Given the description of an element on the screen output the (x, y) to click on. 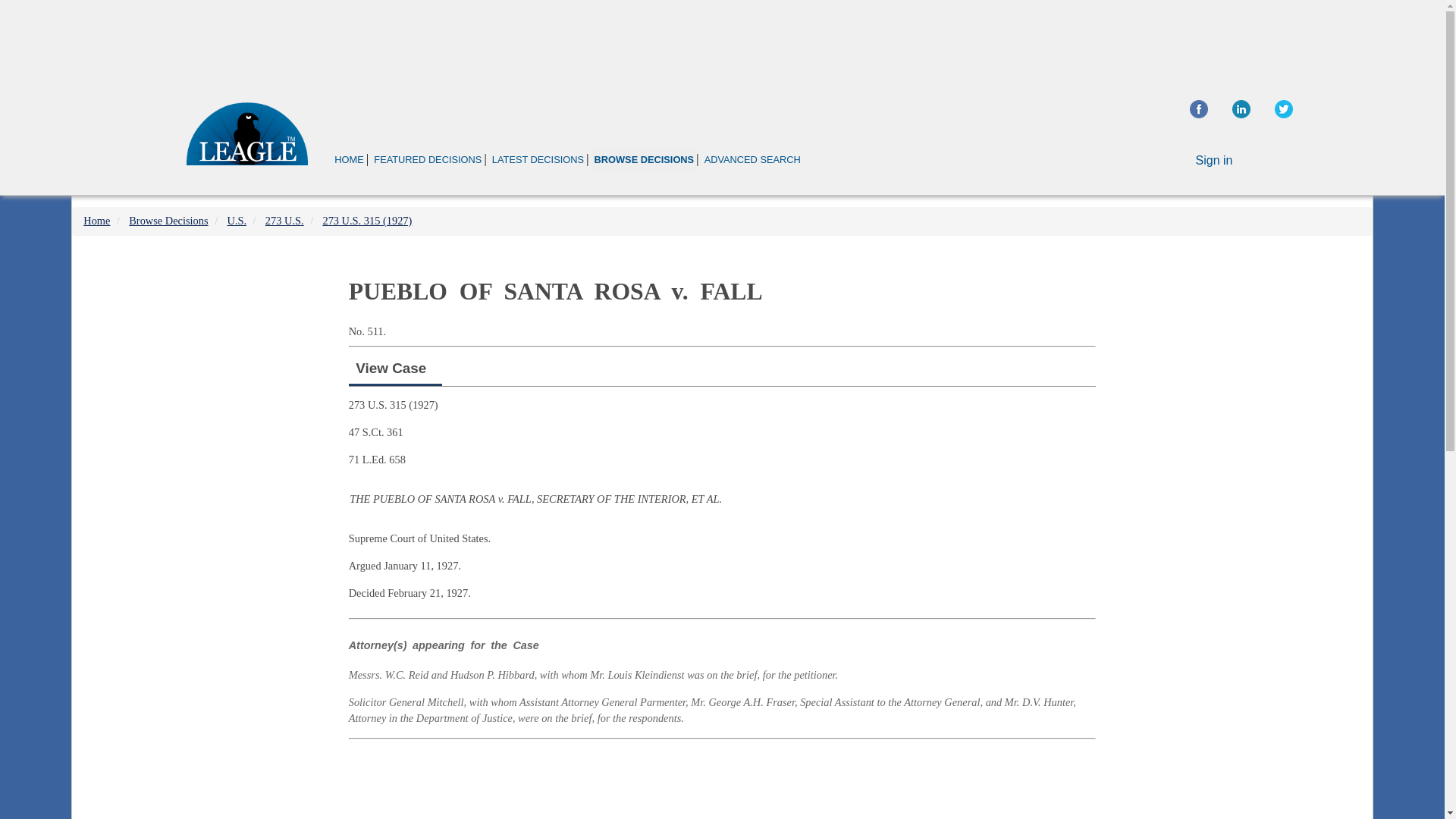
Advertisement (722, 781)
FEATURED DECISIONS (427, 159)
HOME (348, 159)
Sign in (1214, 160)
Advertisement (721, 41)
ADVANCED SEARCH (752, 159)
273 U.S. (284, 220)
Browse Decisions (168, 220)
View Case (390, 367)
BROWSE DECISIONS (643, 159)
